Given the description of an element on the screen output the (x, y) to click on. 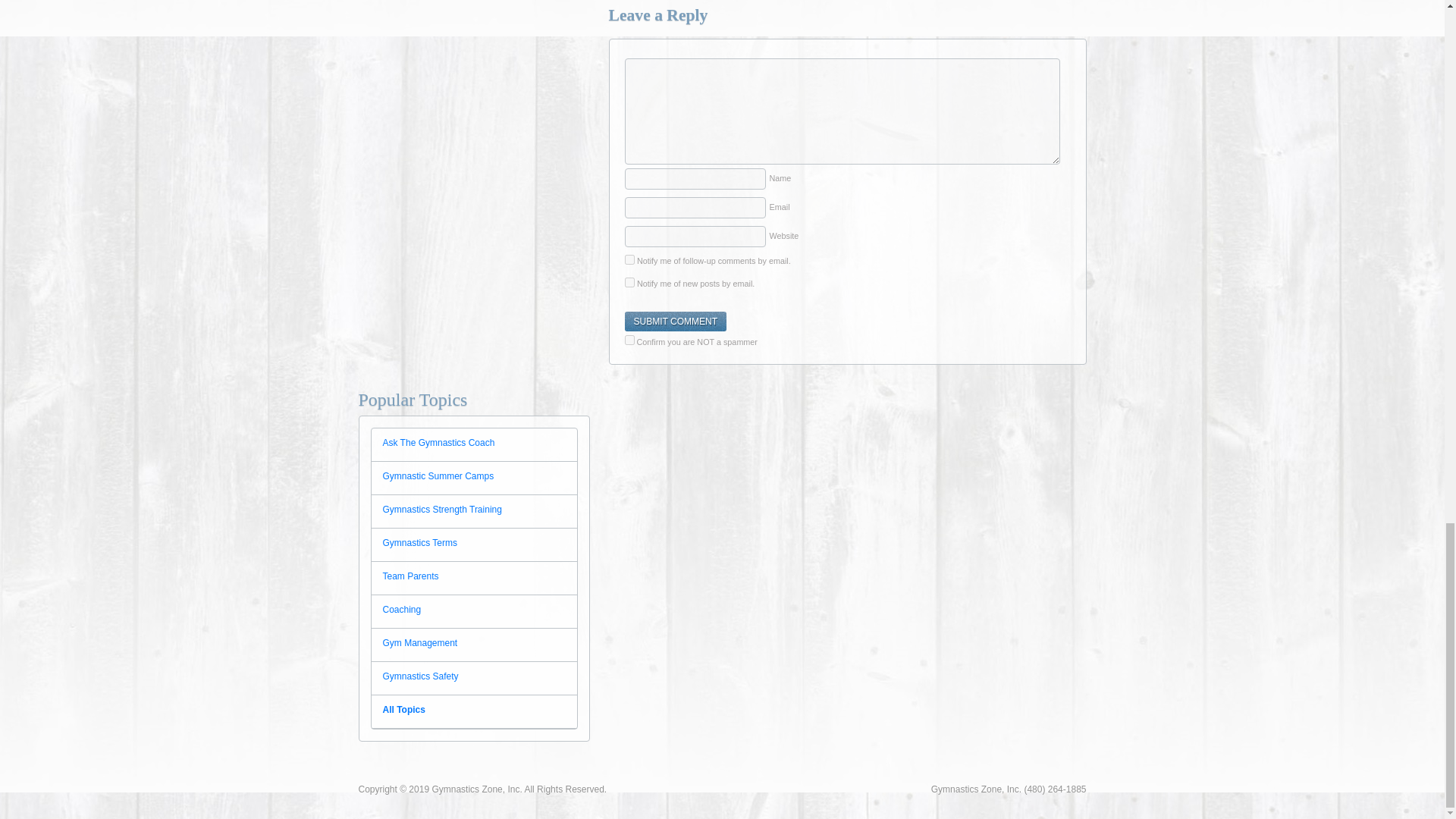
subscribe (629, 282)
on (629, 339)
subscribe (629, 259)
Submit Comment (675, 321)
